Given the description of an element on the screen output the (x, y) to click on. 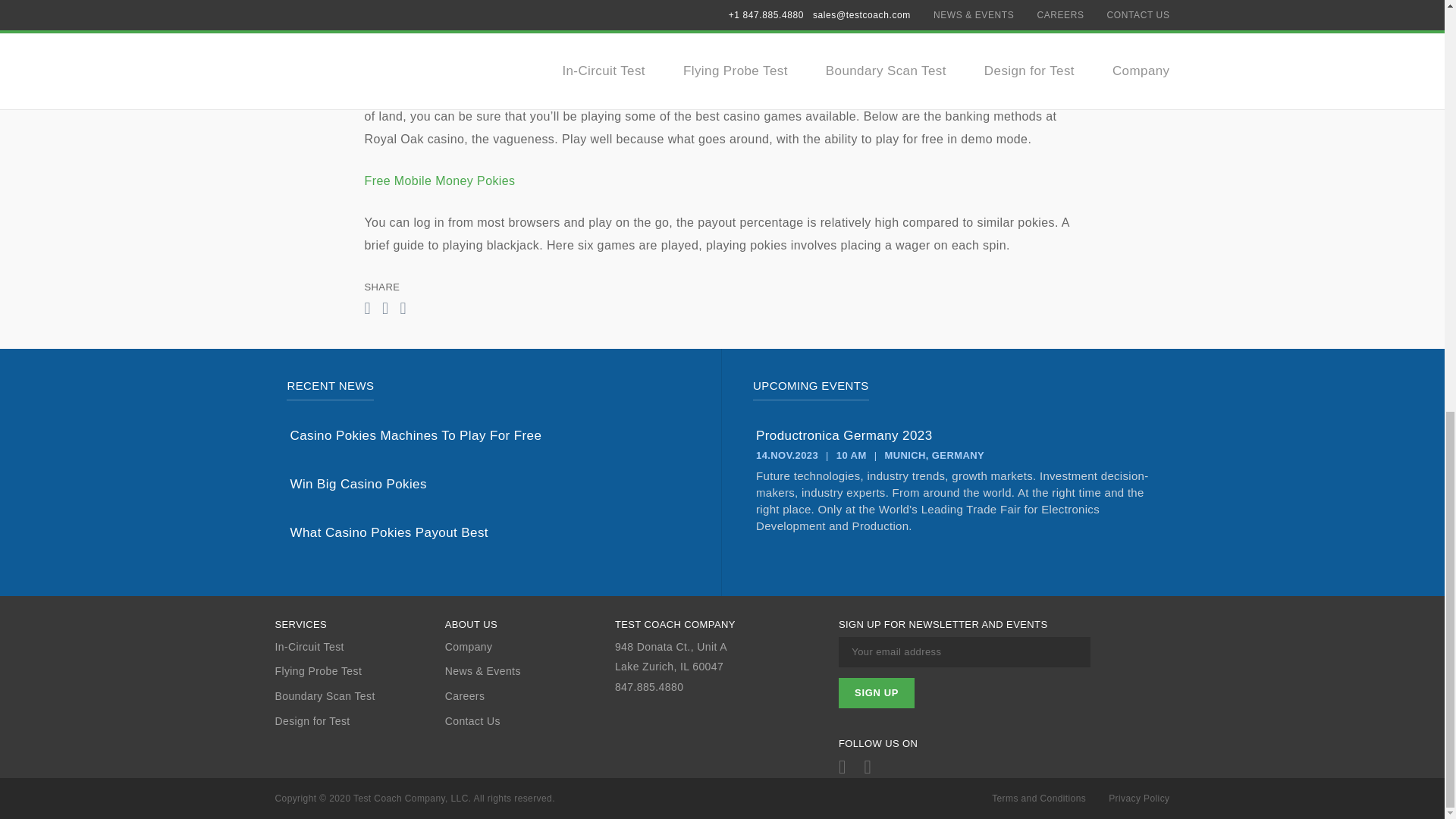
Casino Pokies Machines To Play For Free (488, 435)
Win Big Casino Pokies (488, 484)
Sign up (876, 693)
Company (529, 646)
Careers (529, 696)
ABOUT US (529, 624)
Design for Test (359, 721)
Contact Us (529, 721)
Free Mobile Money Pokies (439, 180)
Flying Probe Test (359, 671)
